Given the description of an element on the screen output the (x, y) to click on. 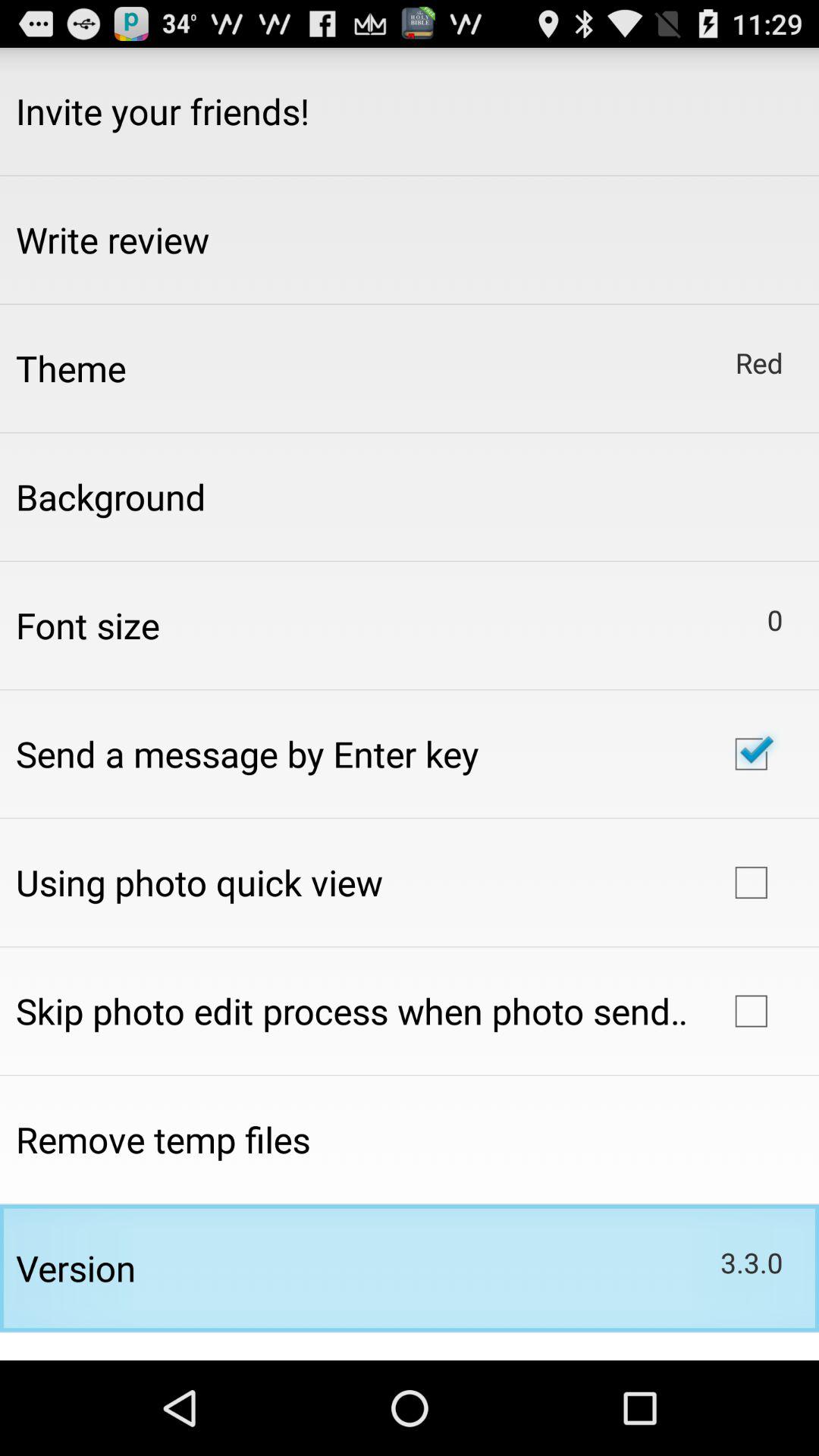
open item above the skip photo edit app (198, 882)
